Given the description of an element on the screen output the (x, y) to click on. 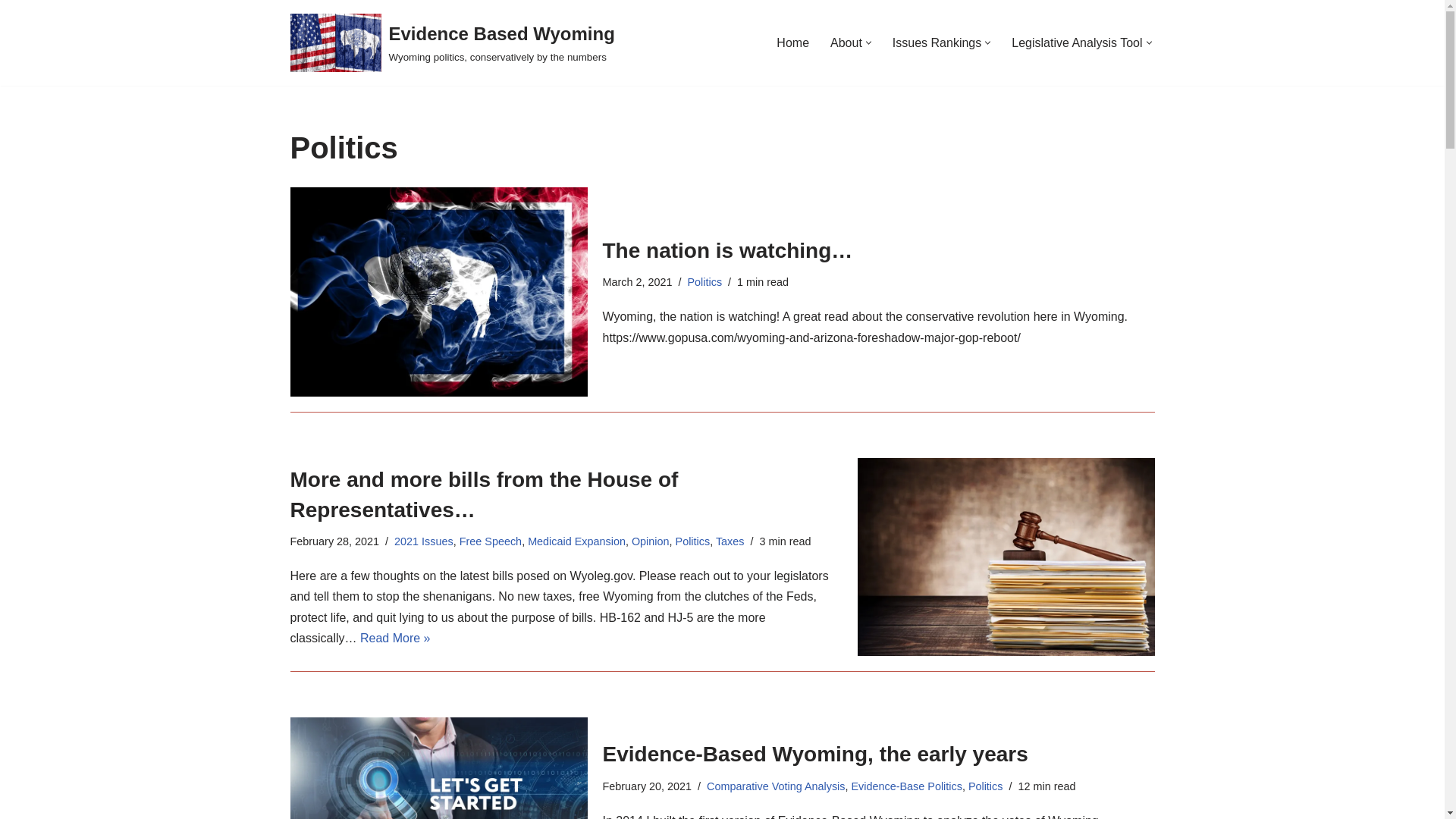
Skip to content (11, 31)
Legislative Analysis Tool (1076, 42)
Home (792, 42)
Issues Rankings (936, 42)
About (845, 42)
Evidence-Based Wyoming, the early years (437, 768)
